Given the description of an element on the screen output the (x, y) to click on. 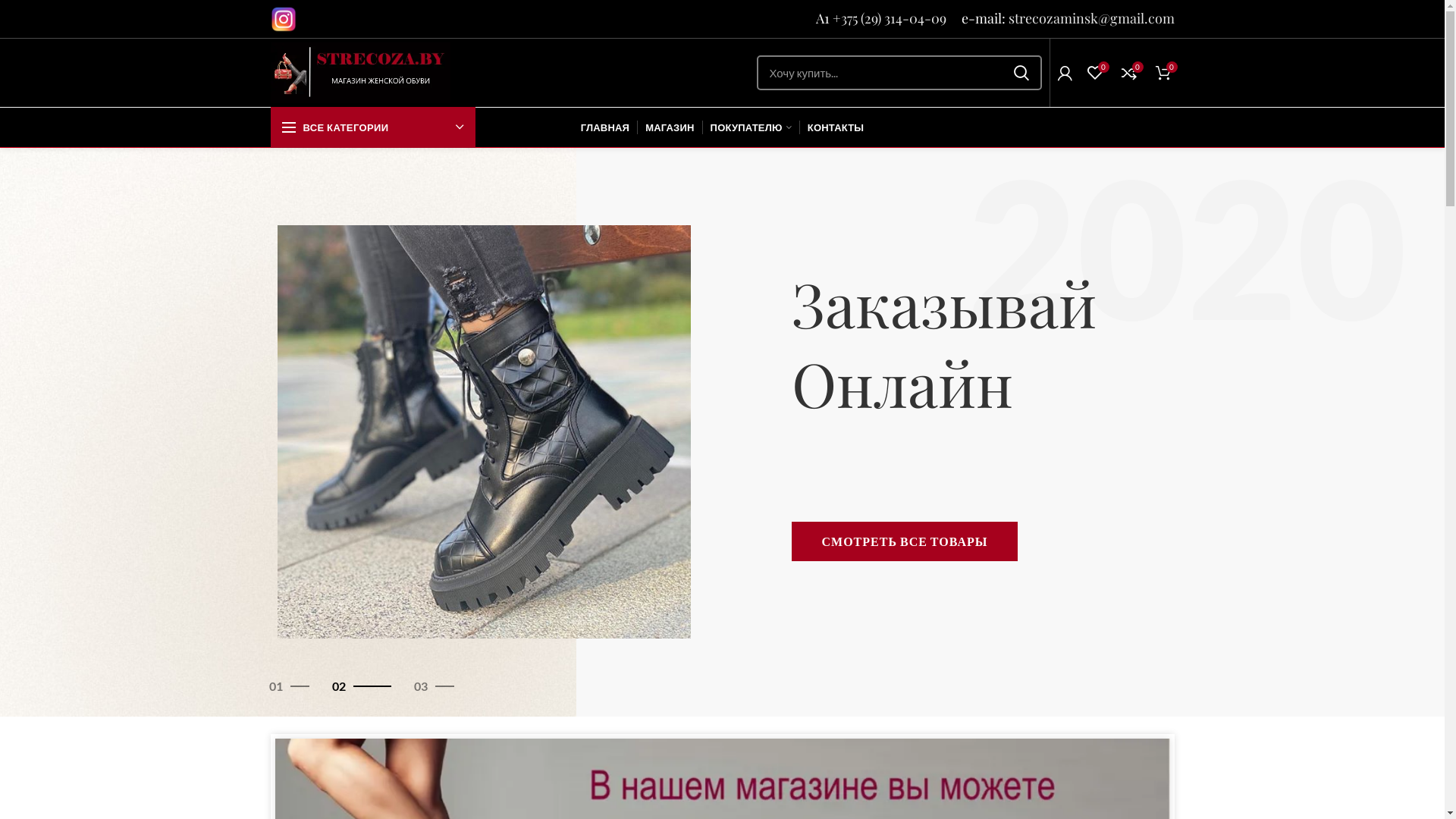
0 Element type: text (1094, 72)
0 Element type: text (1163, 72)
375 (29) 314-04-09 Element type: text (892, 18)
0 Element type: text (1128, 72)
strecozaminsk@gmail.com Element type: text (1091, 18)
